Given the description of an element on the screen output the (x, y) to click on. 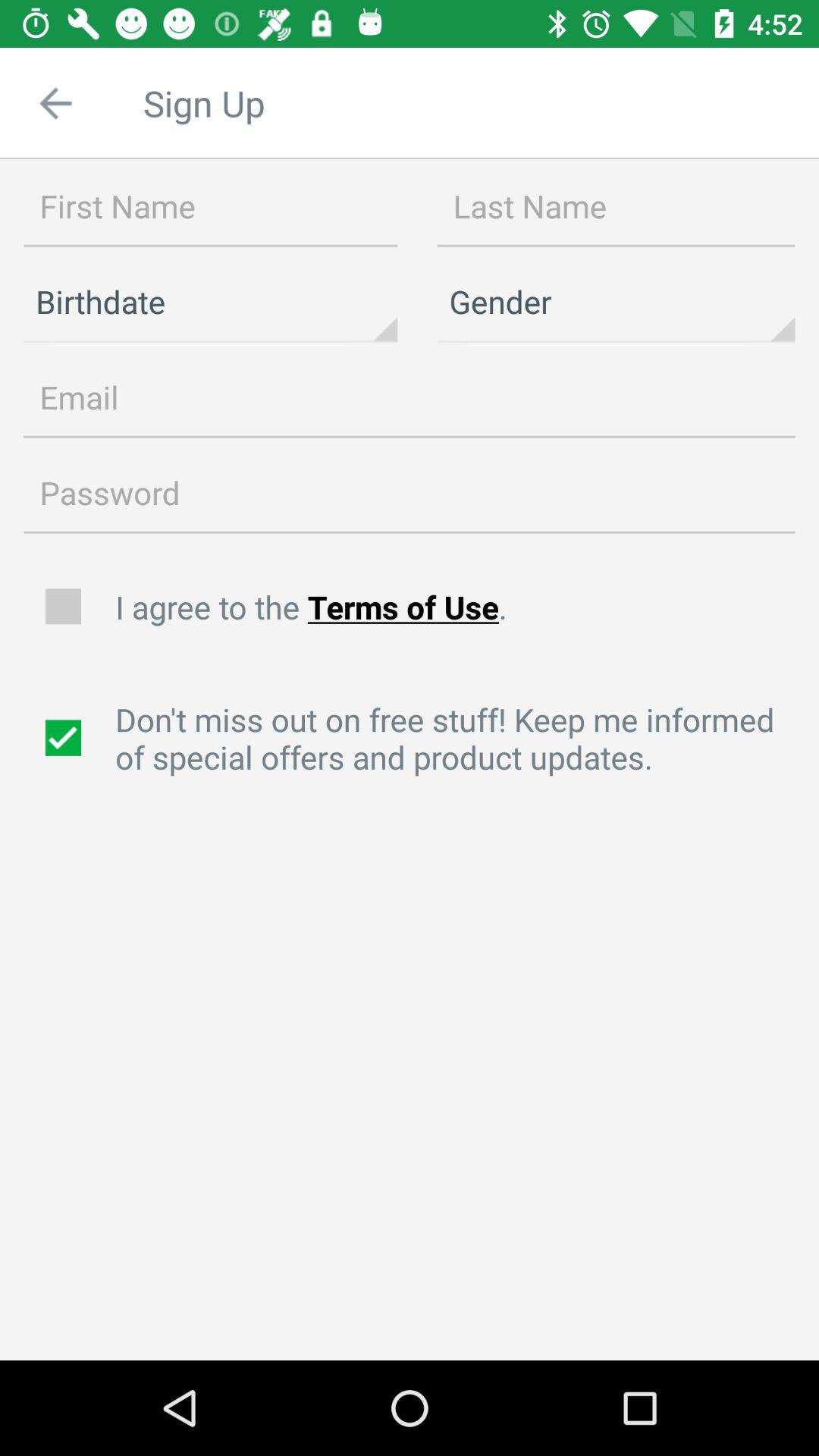
tap icon below the birthdate item (409, 397)
